Given the description of an element on the screen output the (x, y) to click on. 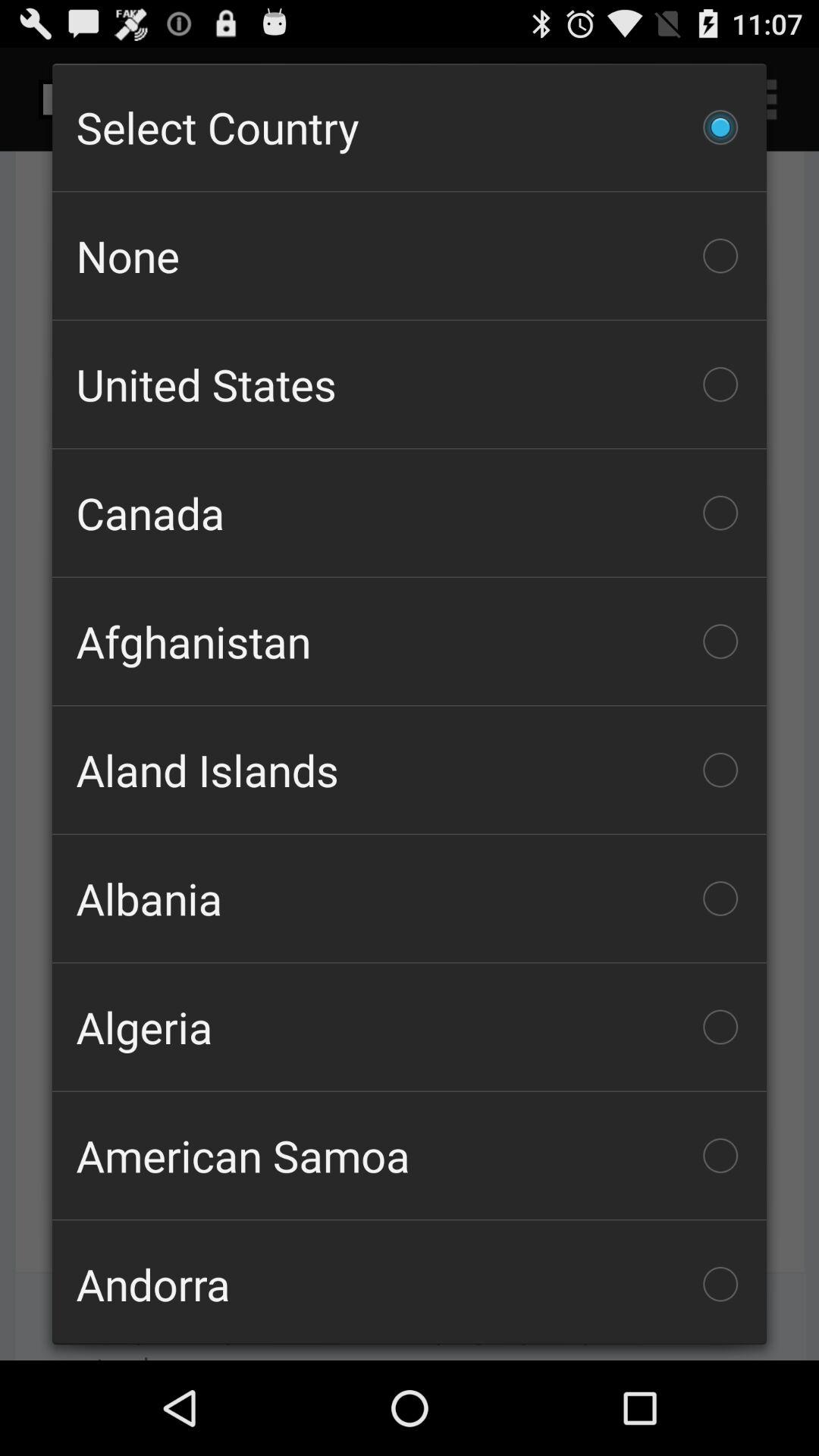
scroll to algeria (409, 1026)
